Given the description of an element on the screen output the (x, y) to click on. 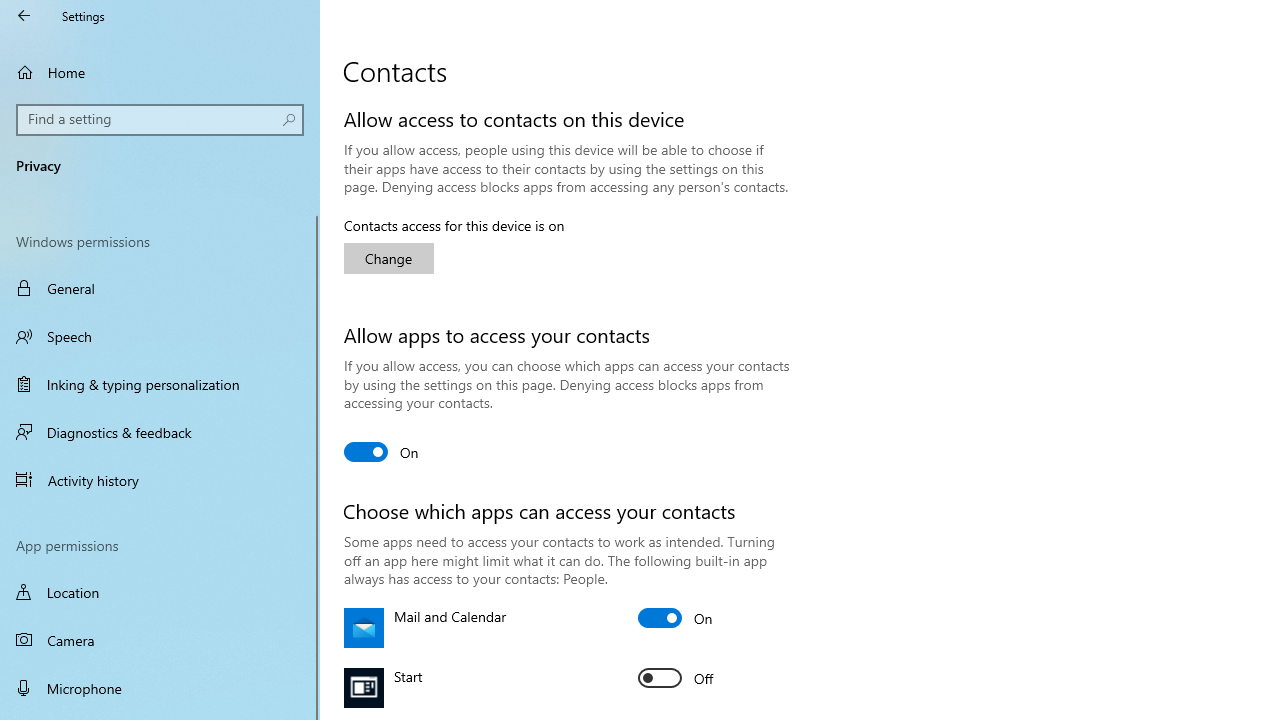
Activity history (160, 479)
Search box, Find a setting (160, 119)
Start (675, 677)
Inking & typing personalization (160, 384)
Home (160, 71)
Diagnostics & feedback (160, 431)
General (160, 287)
Change (388, 258)
Mail and Calendar (675, 617)
Camera (160, 639)
Back (24, 15)
Speech (160, 335)
Microphone (160, 687)
Allow apps to access your contacts (381, 452)
Location (160, 592)
